Given the description of an element on the screen output the (x, y) to click on. 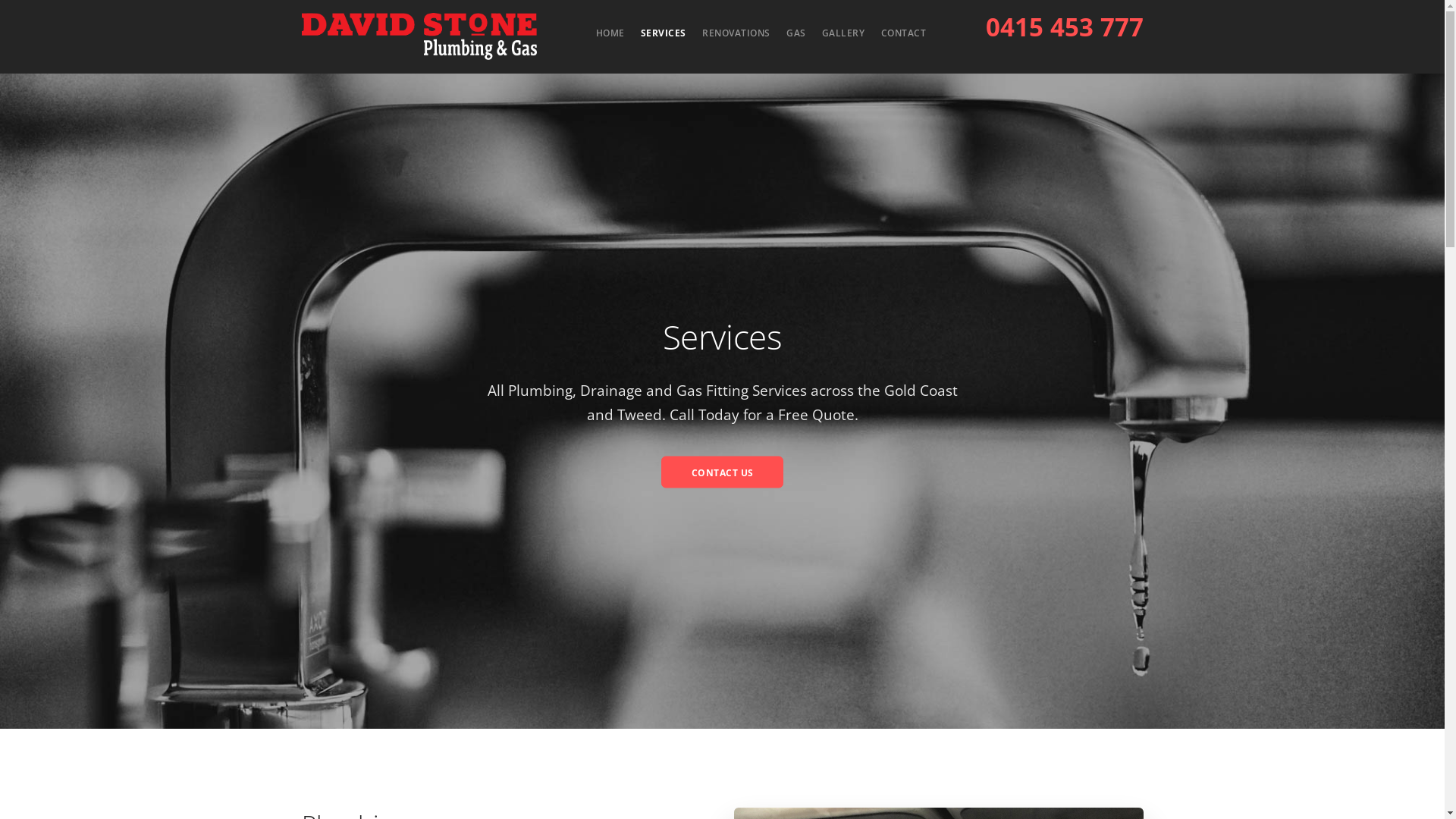
HOME Element type: text (610, 32)
RENOVATIONS Element type: text (736, 32)
CONTACT Element type: text (903, 32)
GALLERY Element type: text (843, 32)
0415 453 777 Element type: text (1064, 26)
CONTACT US Element type: text (722, 472)
SERVICES Element type: text (663, 32)
GAS Element type: text (796, 32)
